Given the description of an element on the screen output the (x, y) to click on. 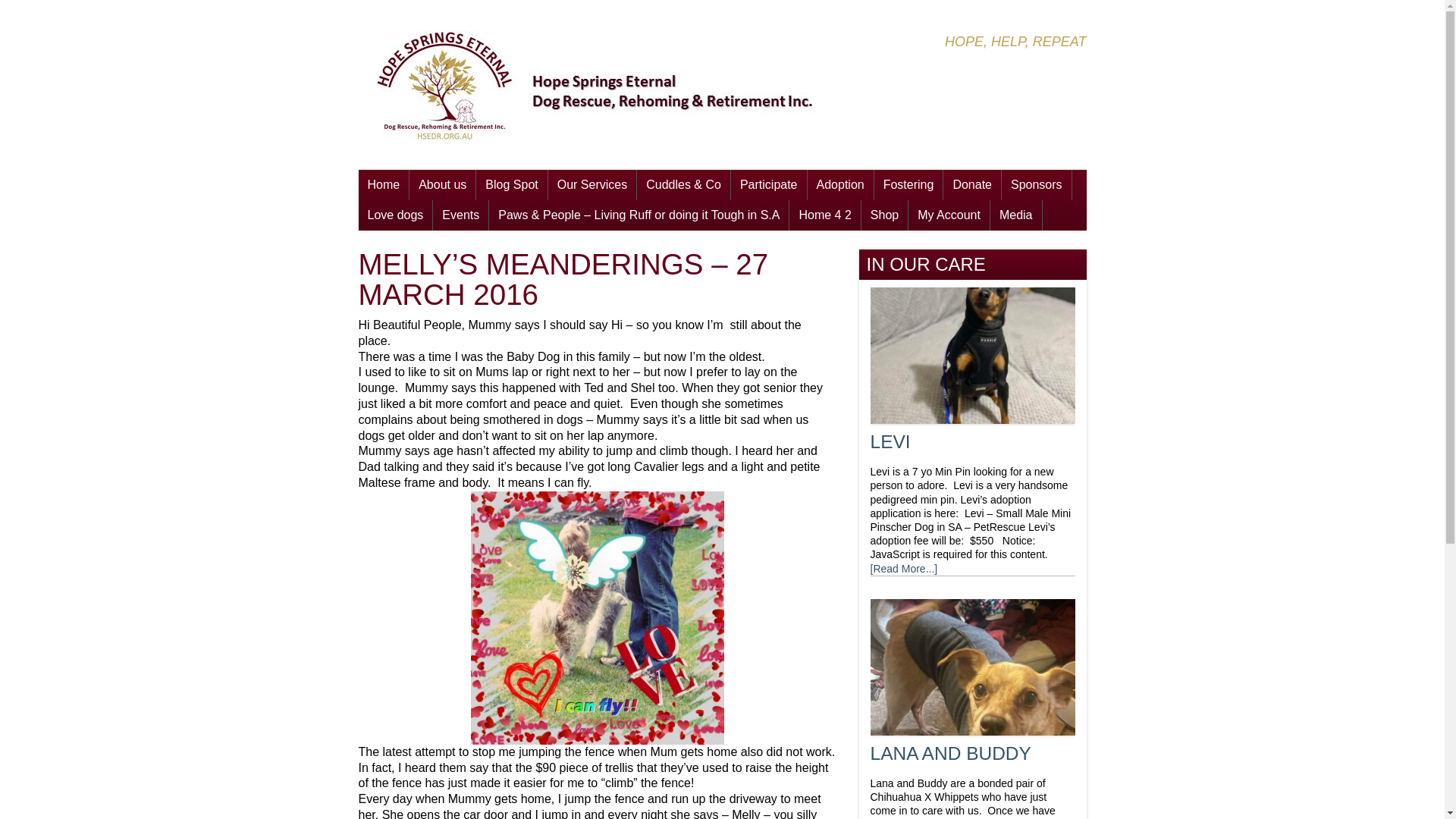
Shop Element type: text (884, 215)
LANA AND BUDDY Element type: text (950, 753)
Media Element type: text (1015, 215)
Our Services Element type: text (592, 184)
My Account Element type: text (948, 215)
[Read More...] Element type: text (904, 568)
Home Element type: text (382, 184)
Adoption Element type: text (840, 184)
Home 4 2 Element type: text (824, 215)
Sponsors Element type: text (1036, 184)
Fostering Element type: text (908, 184)
Events Element type: text (460, 215)
Love dogs Element type: text (394, 215)
Donate Element type: text (972, 184)
Participate Element type: text (768, 184)
LEVI Element type: text (890, 441)
Blog Spot Element type: text (511, 184)
Cuddles & Co Element type: text (683, 184)
About us Element type: text (442, 184)
